Given the description of an element on the screen output the (x, y) to click on. 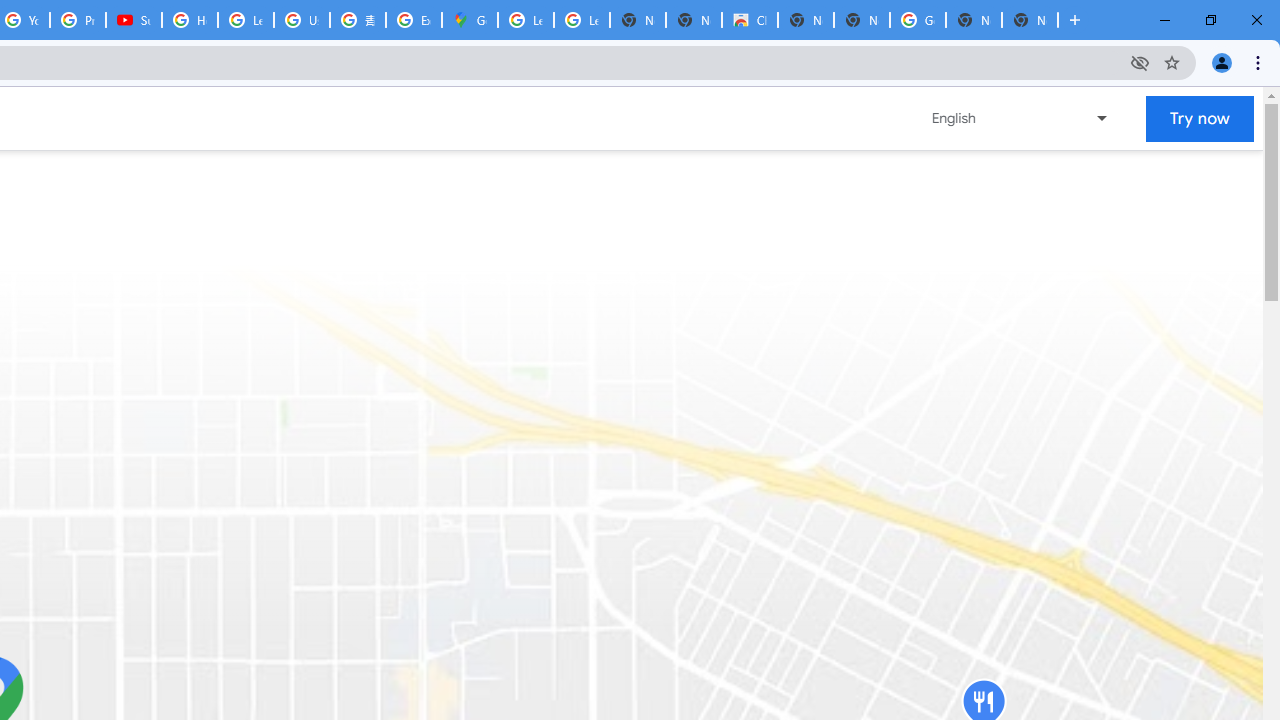
Explore new street-level details - Google Maps Help (413, 20)
New Tab (1030, 20)
